Given the description of an element on the screen output the (x, y) to click on. 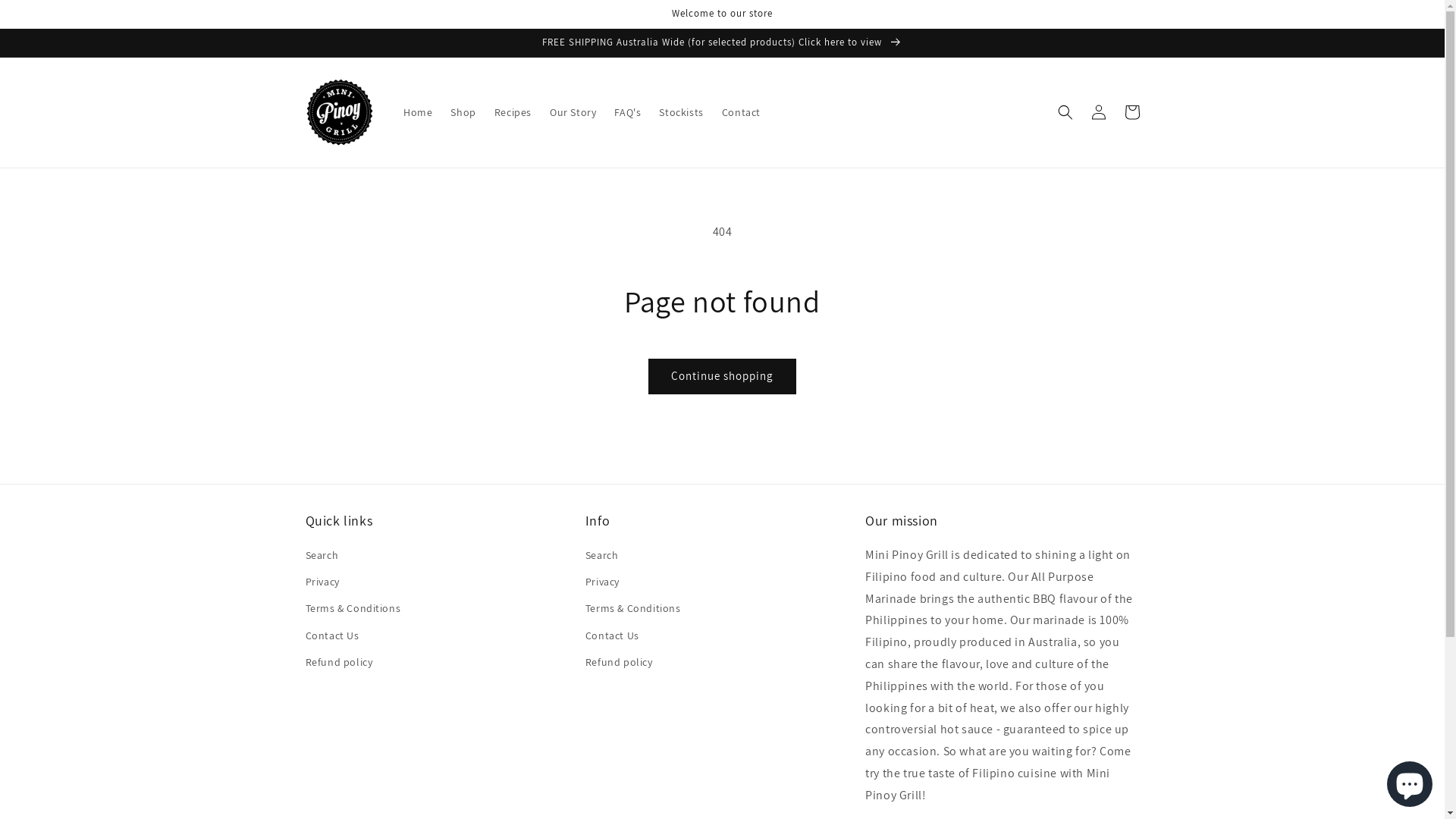
Search Element type: text (321, 557)
Privacy Element type: text (321, 581)
Search Element type: text (601, 557)
Refund policy Element type: text (618, 662)
Our Story Element type: text (572, 112)
Continue shopping Element type: text (722, 376)
Shopify online store chat Element type: hover (1409, 780)
Terms & Conditions Element type: text (632, 608)
Home Element type: text (417, 112)
Stockists Element type: text (680, 112)
Contact Element type: text (740, 112)
Privacy Element type: text (602, 581)
Refund policy Element type: text (338, 662)
Log in Element type: text (1097, 111)
Recipes Element type: text (512, 112)
Cart Element type: text (1131, 111)
Terms & Conditions Element type: text (352, 608)
FAQ's Element type: text (627, 112)
Contact Us Element type: text (612, 635)
Contact Us Element type: text (331, 635)
Shop Element type: text (462, 112)
